Given the description of an element on the screen output the (x, y) to click on. 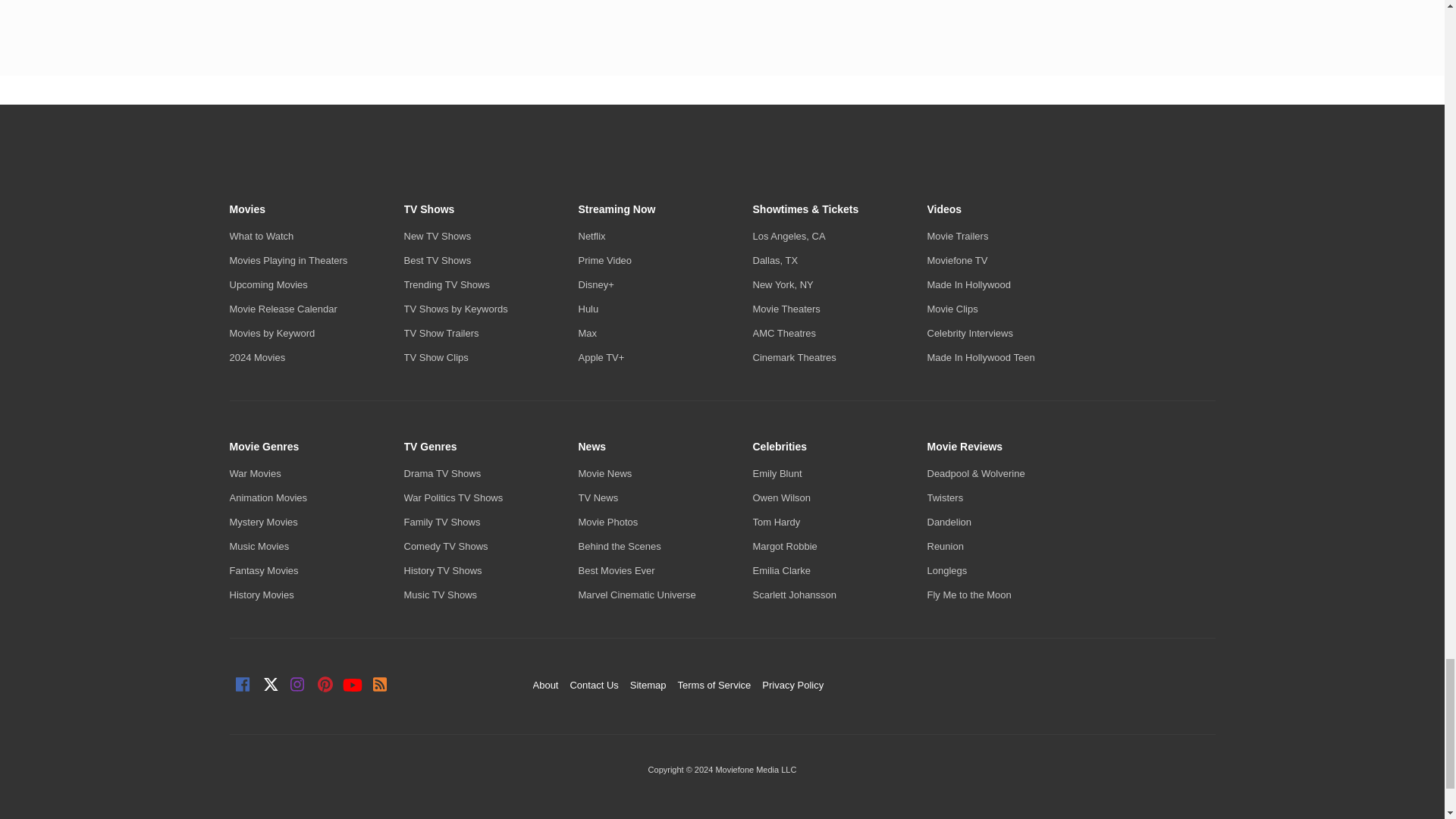
Follow Moviefone on X (270, 685)
Follow Moviefone on Facebook (242, 685)
